Given the description of an element on the screen output the (x, y) to click on. 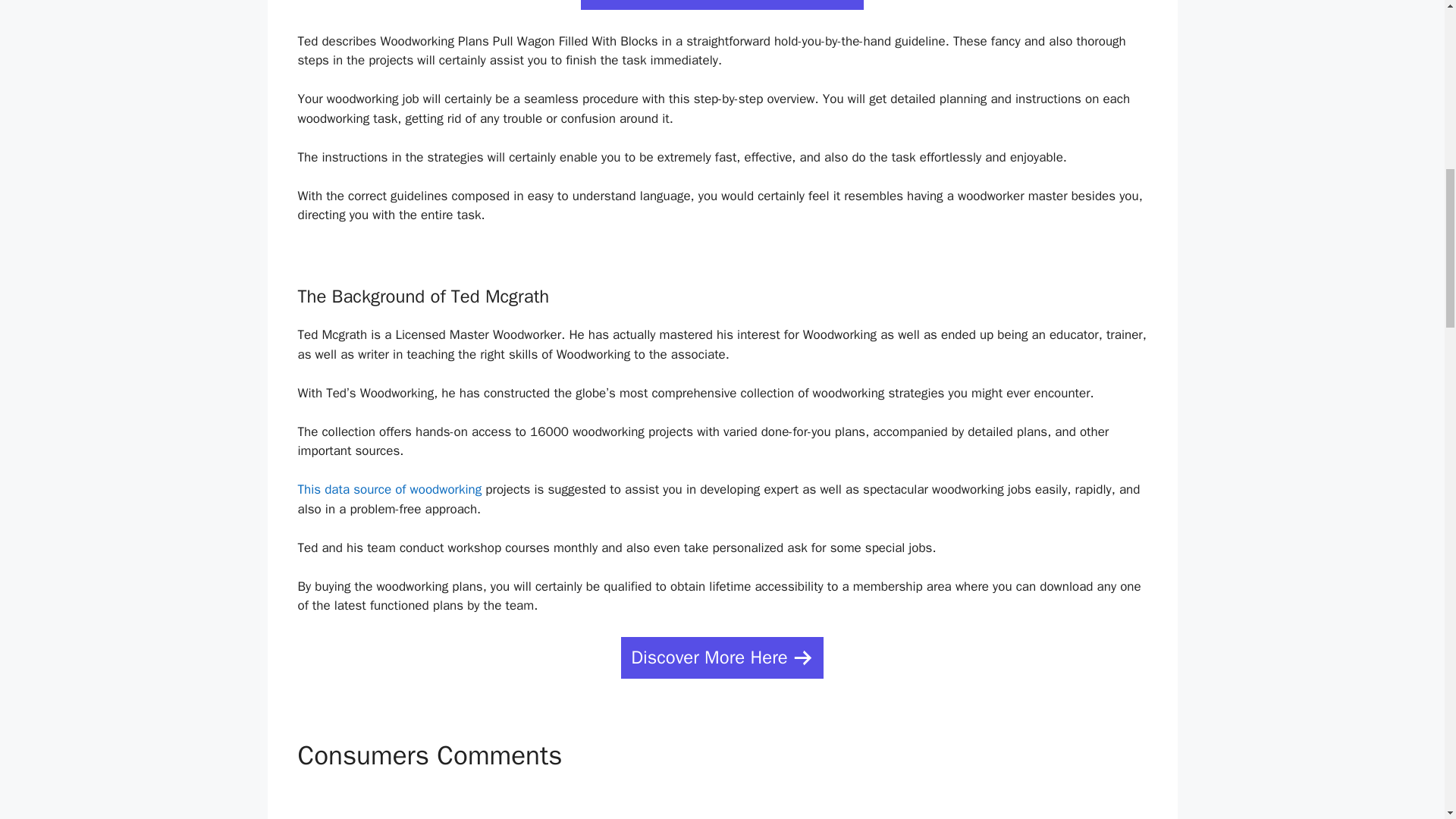
This data source of woodworking (389, 489)
Discover More Here (722, 657)
Go Here To See All Plans Now (722, 4)
Scroll back to top (1406, 720)
